Given the description of an element on the screen output the (x, y) to click on. 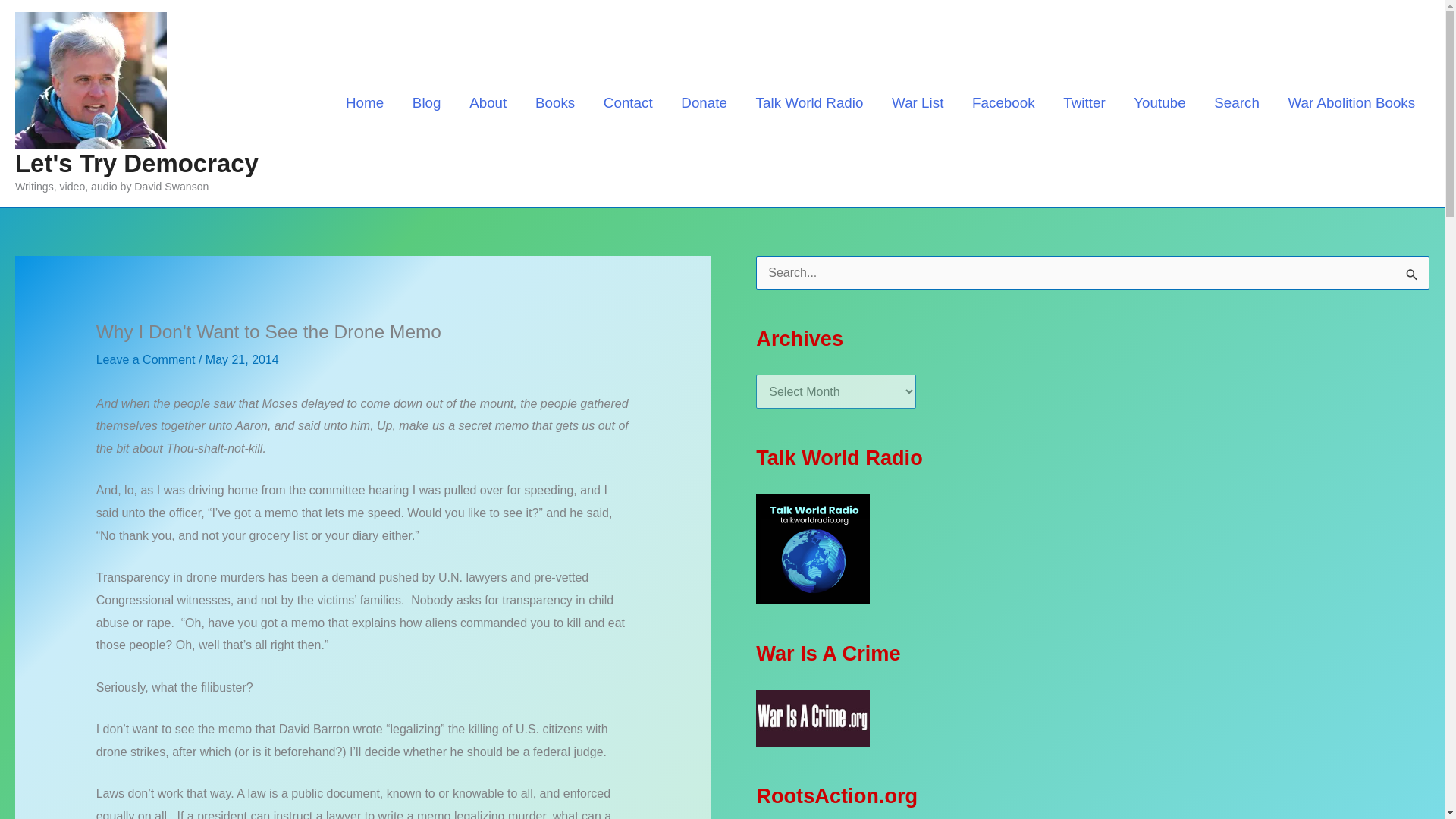
War List (917, 102)
Search (1235, 102)
Blog (425, 102)
Twitter (1083, 102)
Let's Try Democracy (136, 163)
War Abolition Books (1351, 102)
Youtube (1159, 102)
Facebook (1003, 102)
Leave a Comment (145, 359)
Home (364, 102)
Donate (703, 102)
Search (1411, 277)
About (487, 102)
Contact (627, 102)
Books (555, 102)
